Given the description of an element on the screen output the (x, y) to click on. 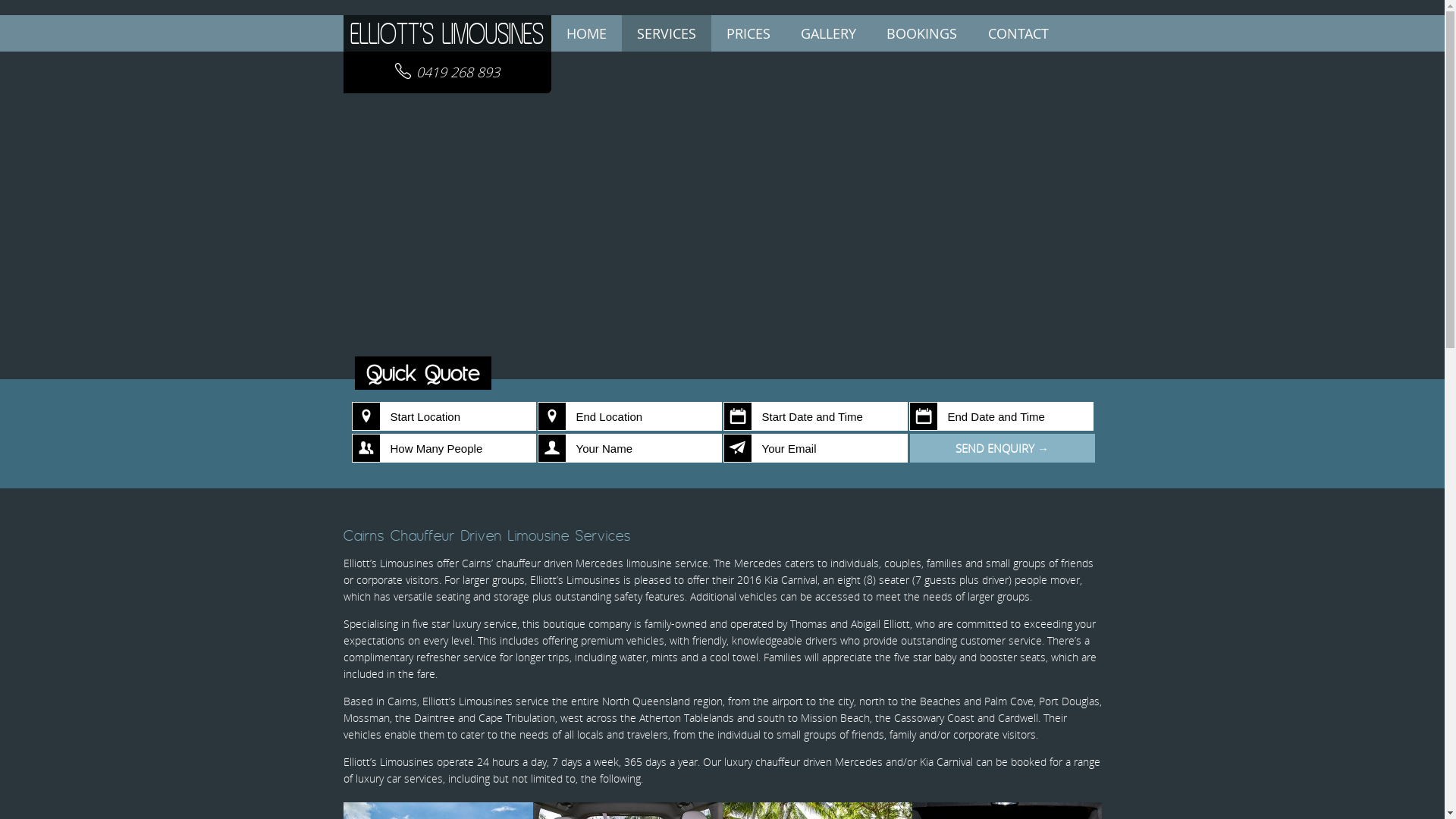
SERVICES Element type: text (666, 33)
BOOKINGS Element type: text (920, 33)
CONTACT Element type: text (1018, 33)
HOME Element type: text (585, 33)
PRICES Element type: text (748, 33)
GALLERY Element type: text (828, 33)
